Given the description of an element on the screen output the (x, y) to click on. 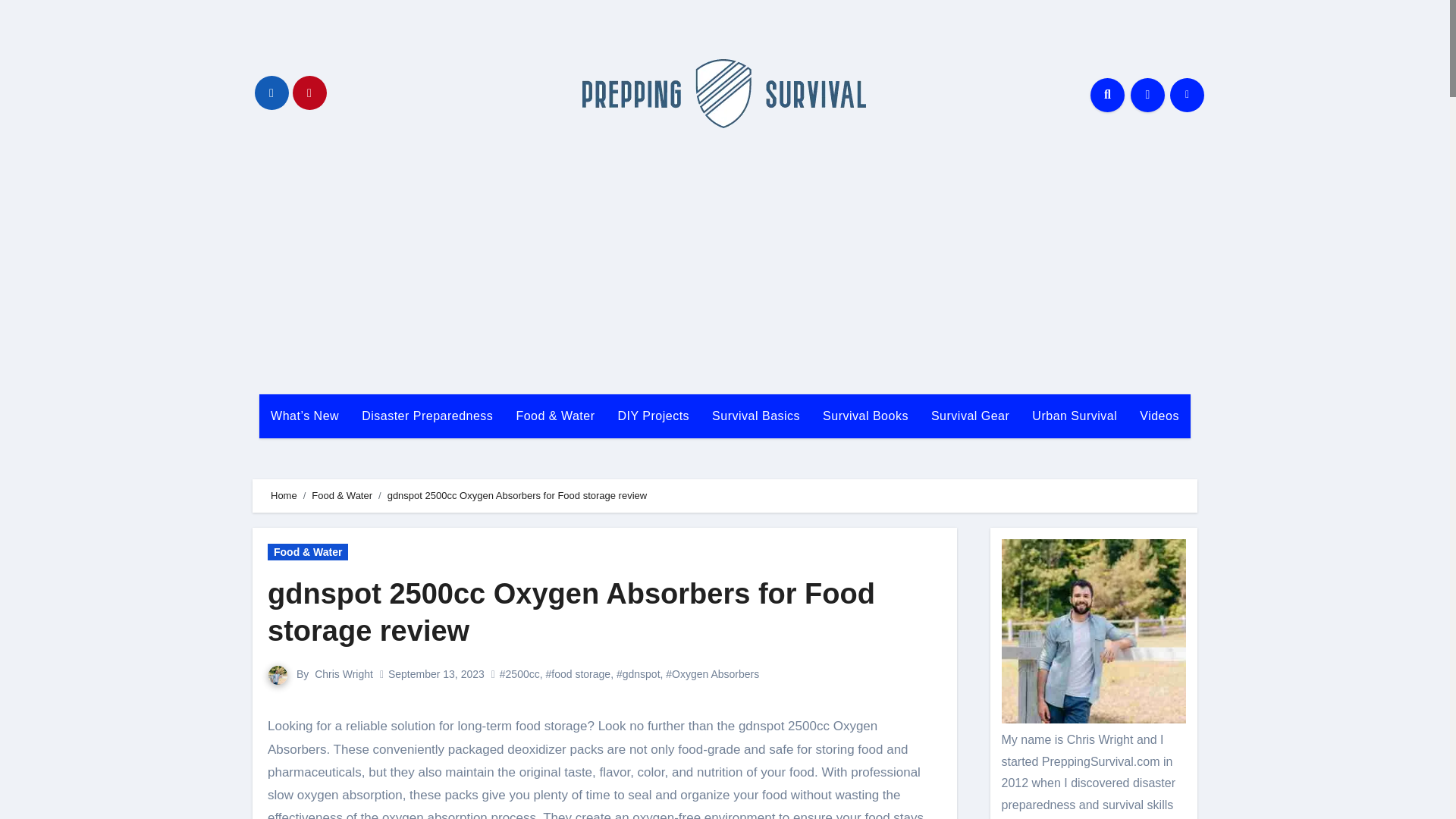
DIY Projects (652, 415)
What's New (304, 415)
Urban Survival (1074, 415)
Disaster Preparedness (426, 415)
Videos (1159, 415)
Disaster Preparedness (426, 415)
Urban Survival (1074, 415)
Chris Wright (343, 674)
